Given the description of an element on the screen output the (x, y) to click on. 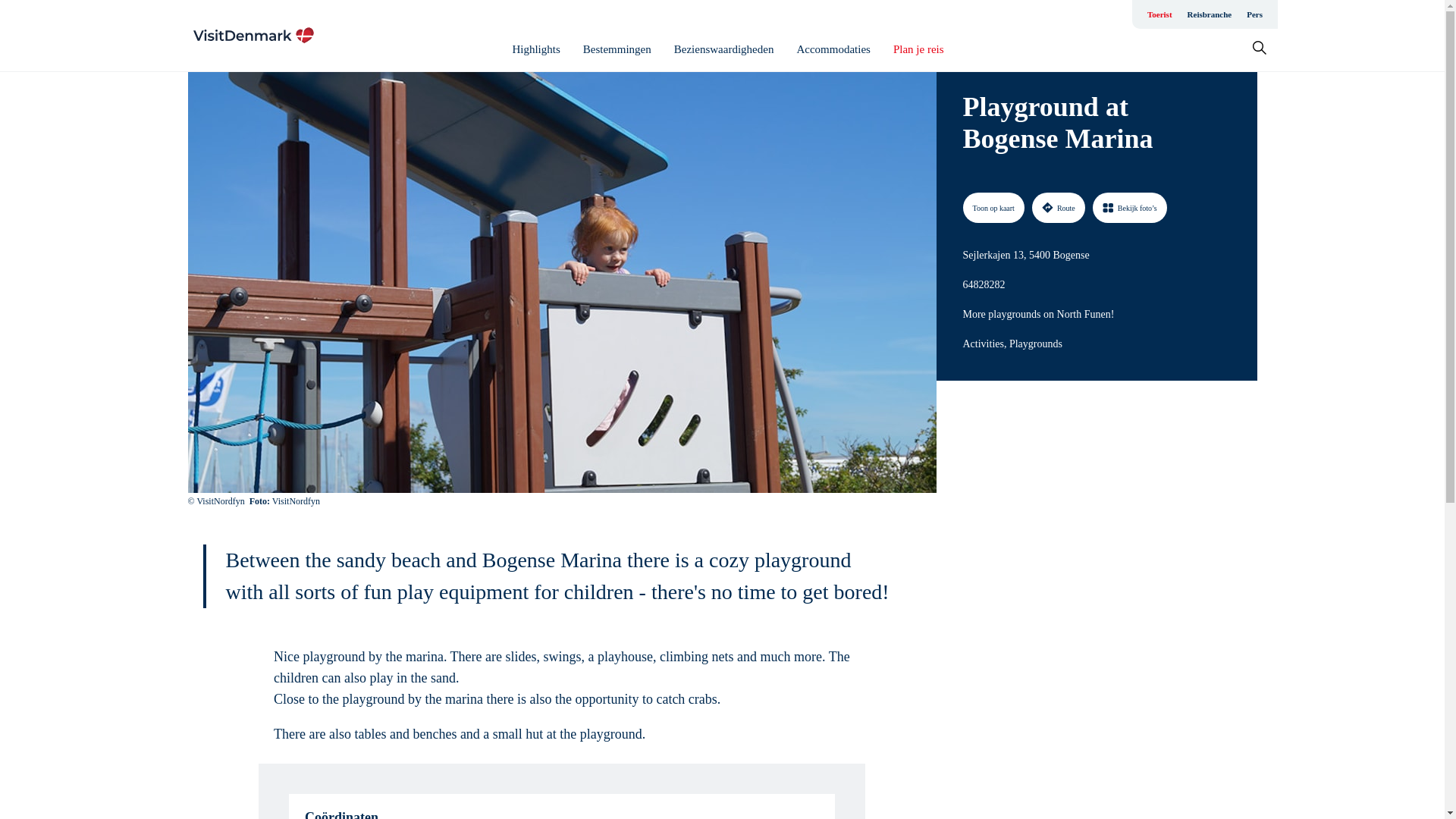
Reisbranche (1209, 14)
Route (1058, 207)
Bezienswaardigheden (724, 49)
Plan je reis (918, 49)
Accommodaties (832, 49)
Playgrounds (1035, 343)
64828282 (984, 284)
Pers (1254, 14)
More playgrounds on North Funen! (1038, 314)
Bestemmingen (616, 49)
